Given the description of an element on the screen output the (x, y) to click on. 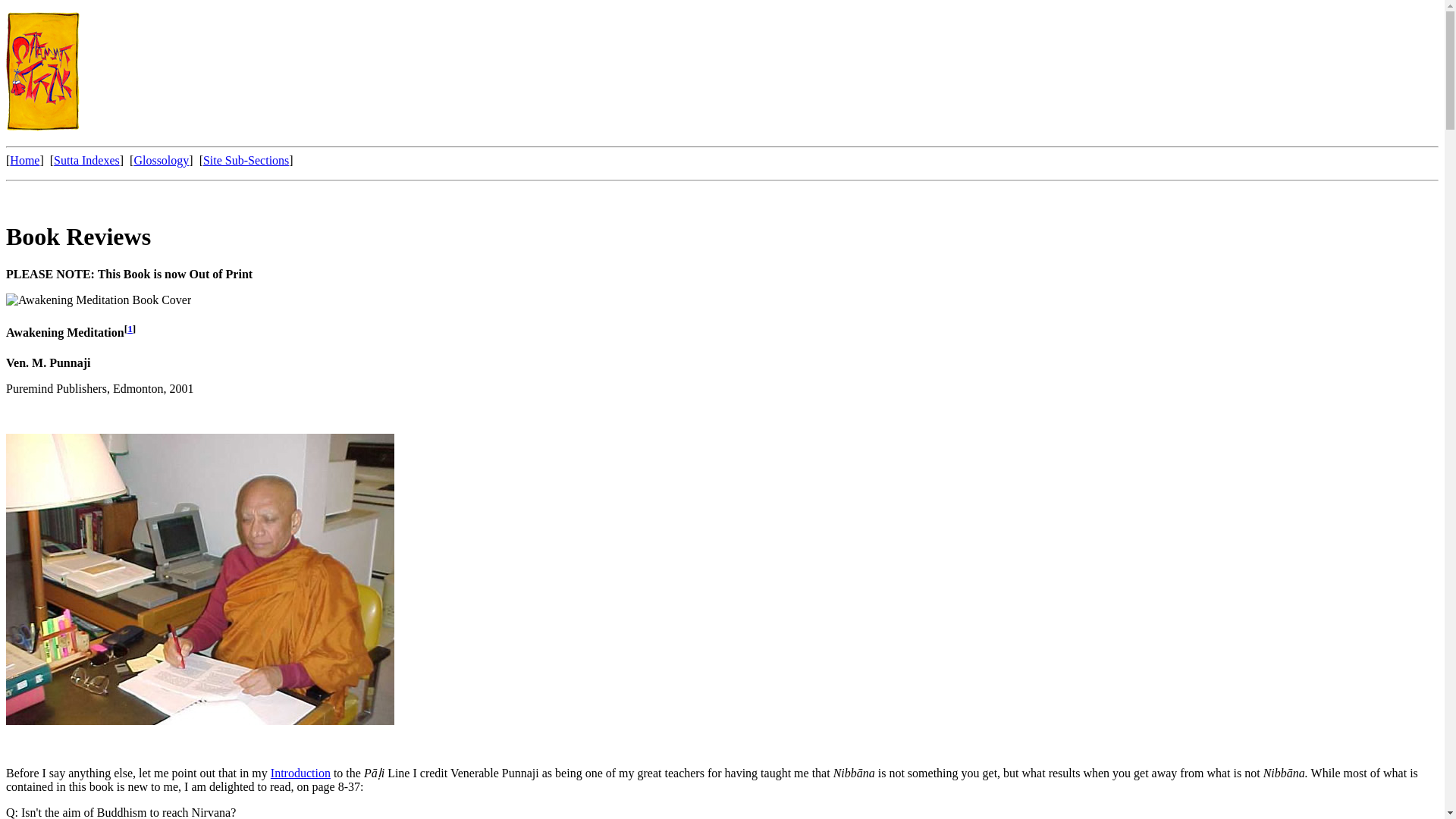
Awakening Meditation (64, 332)
Site Sub-Sections (245, 160)
Glossology (161, 160)
Sutta Indexes (86, 160)
Introduction (300, 772)
Home (24, 160)
